Given the description of an element on the screen output the (x, y) to click on. 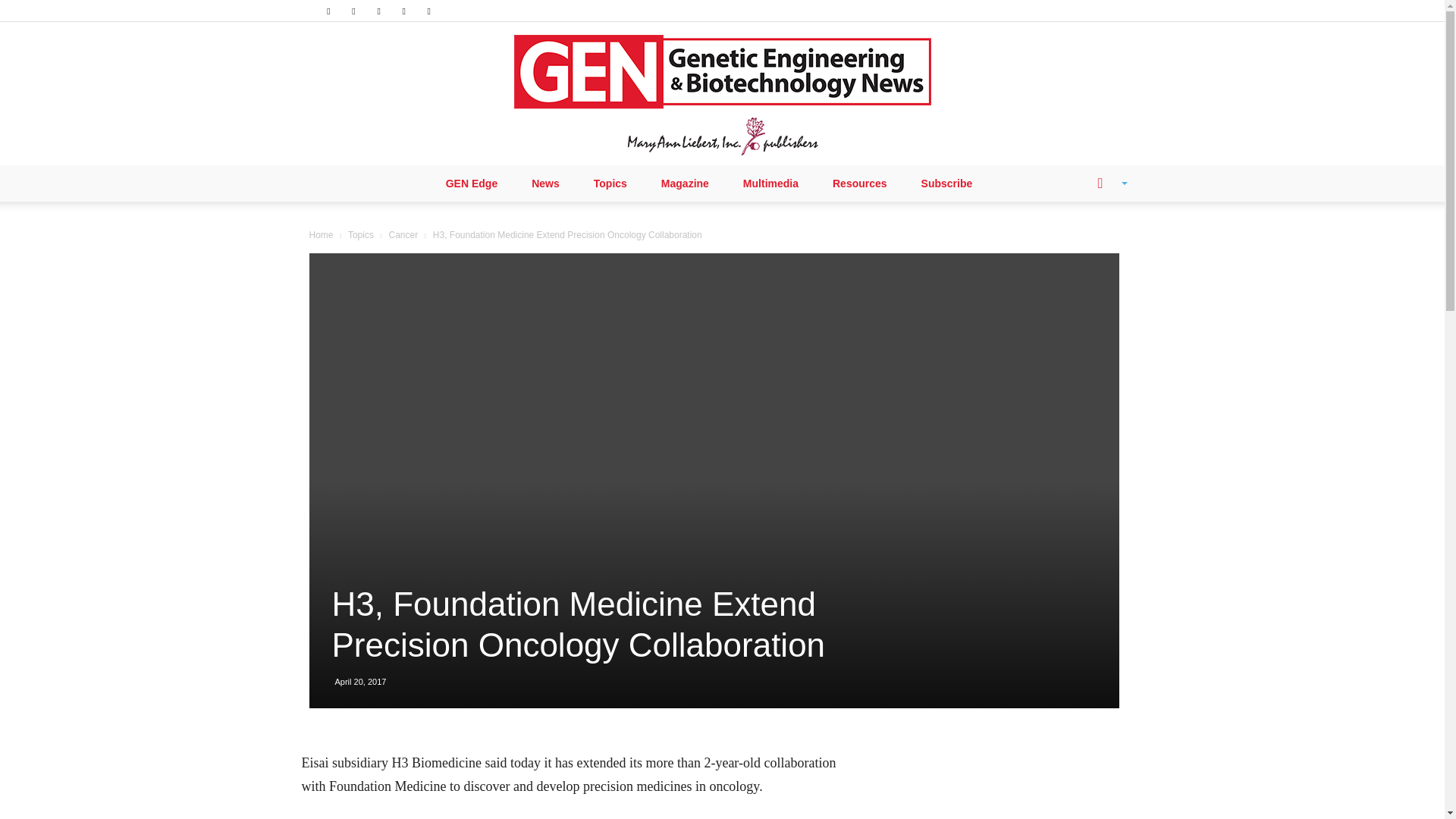
RSS (379, 10)
View all posts in Topics (360, 235)
Youtube (429, 10)
Twitter (403, 10)
Facebook (328, 10)
Linkedin (353, 10)
View all posts in Cancer (403, 235)
